Given the description of an element on the screen output the (x, y) to click on. 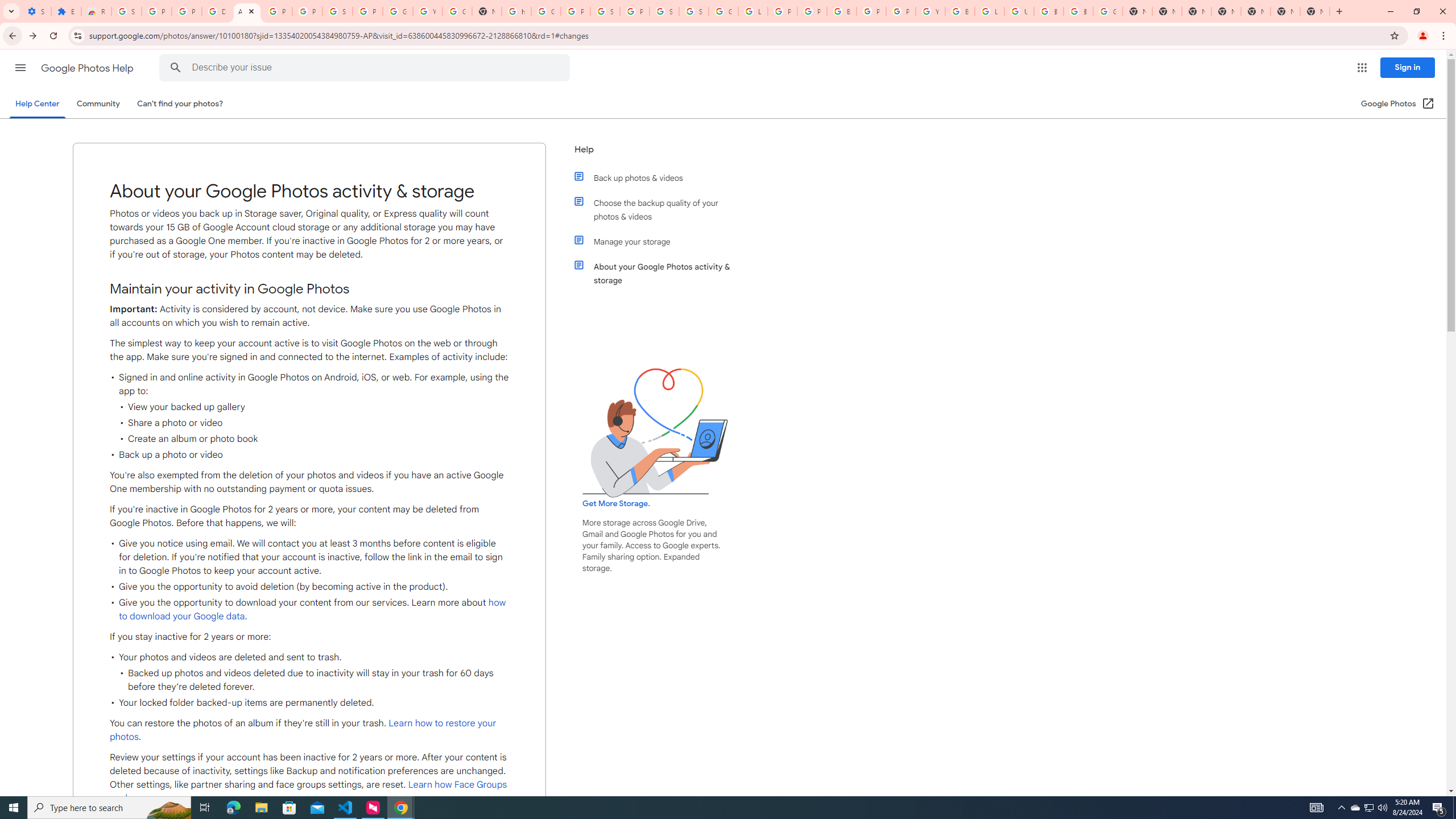
Delete photos & videos - Computer - Google Photos Help (216, 11)
